Given the description of an element on the screen output the (x, y) to click on. 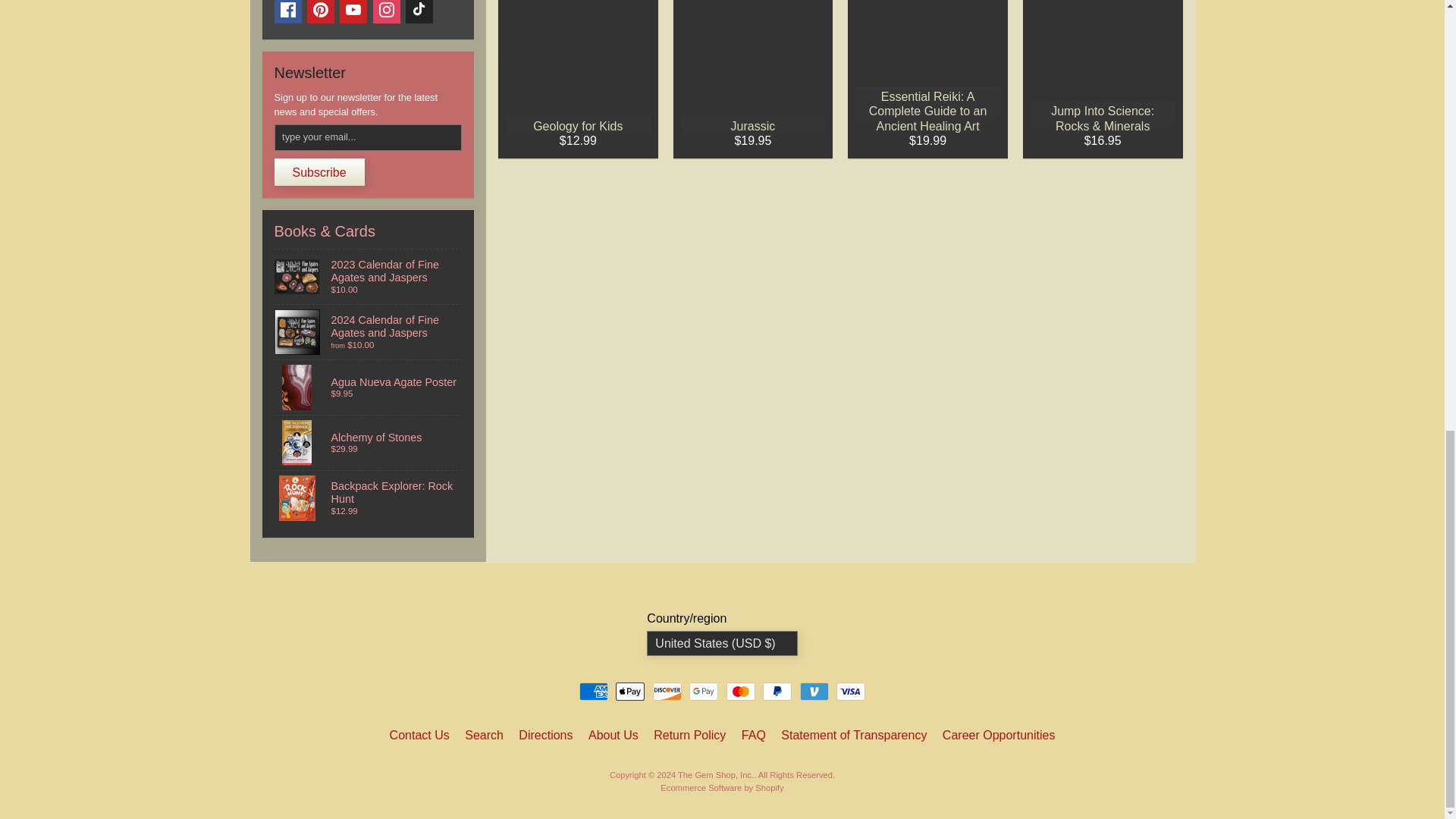
Facebook (288, 11)
Alchemy of Stones (369, 442)
2024 Calendar of Fine Agates and Jaspers (369, 331)
Pinterest (320, 11)
Youtube (352, 11)
American Express (593, 691)
Geology for Kids (577, 79)
Jurassic (752, 79)
2023 Calendar of Fine Agates and Jaspers (369, 276)
Agua Nueva Agate Poster (369, 387)
